Given the description of an element on the screen output the (x, y) to click on. 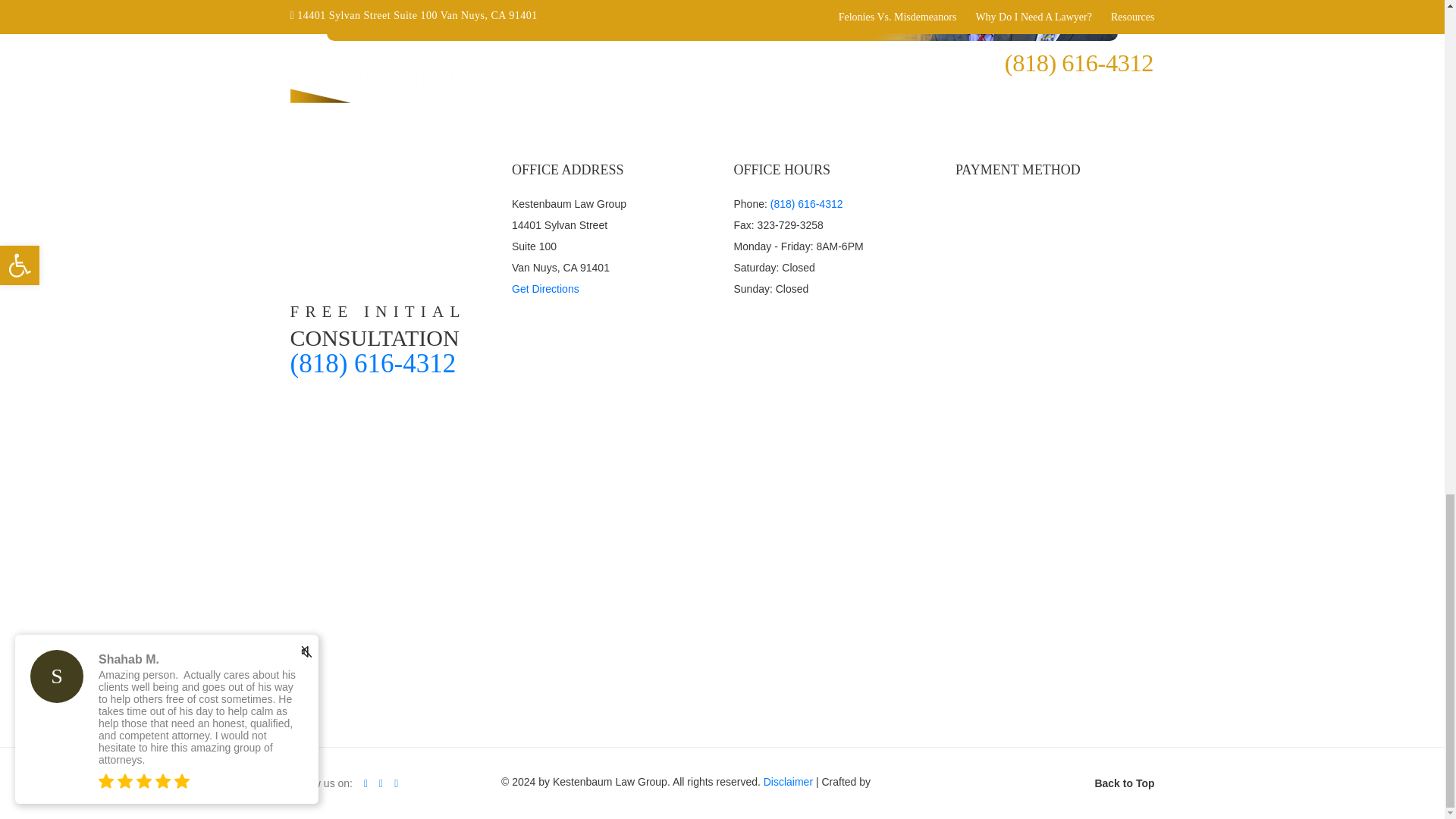
Go to top (1124, 783)
